Given the description of an element on the screen output the (x, y) to click on. 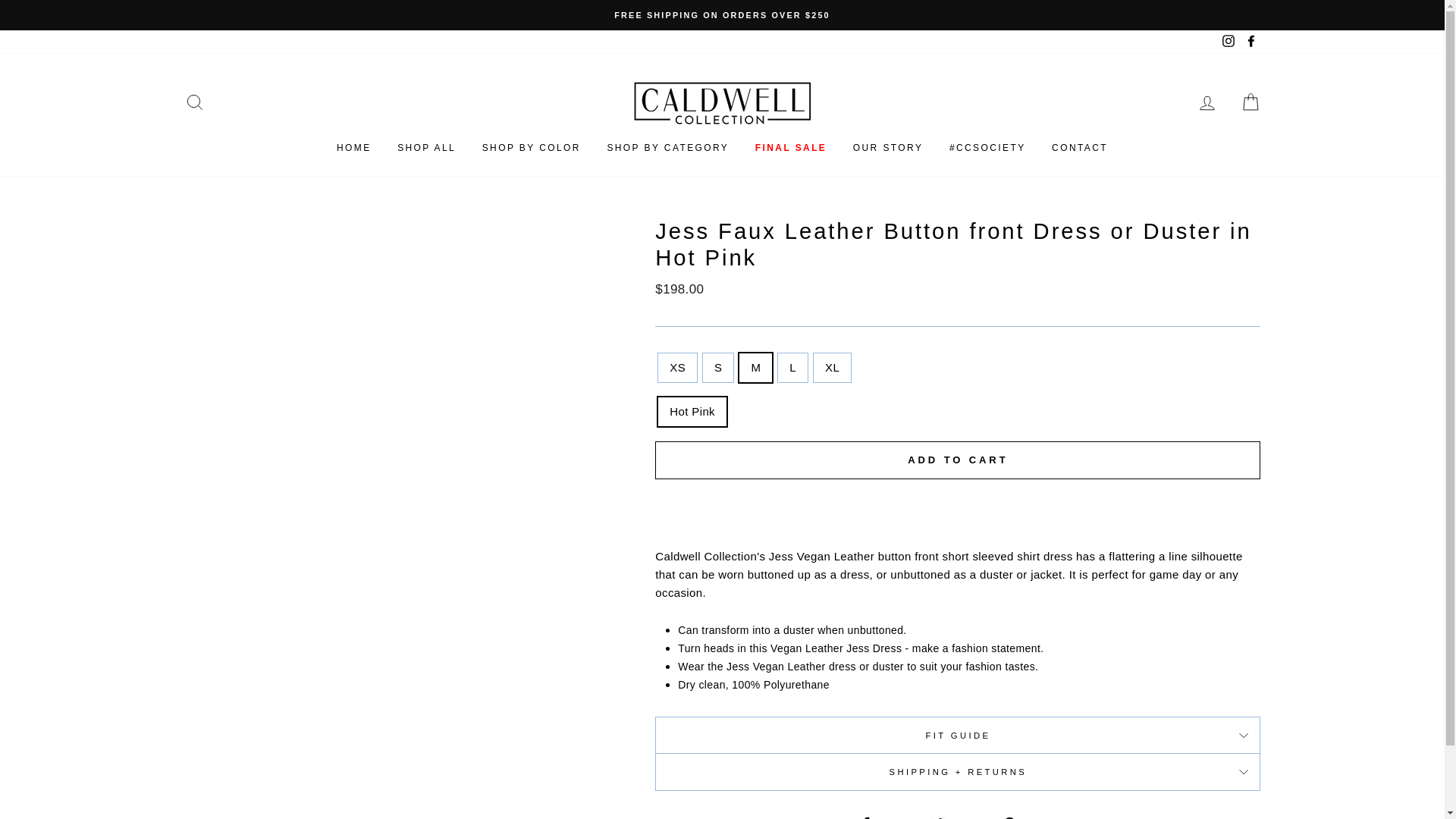
LOG IN (1207, 101)
HOME (353, 148)
SHOP ALL (426, 148)
